Given the description of an element on the screen output the (x, y) to click on. 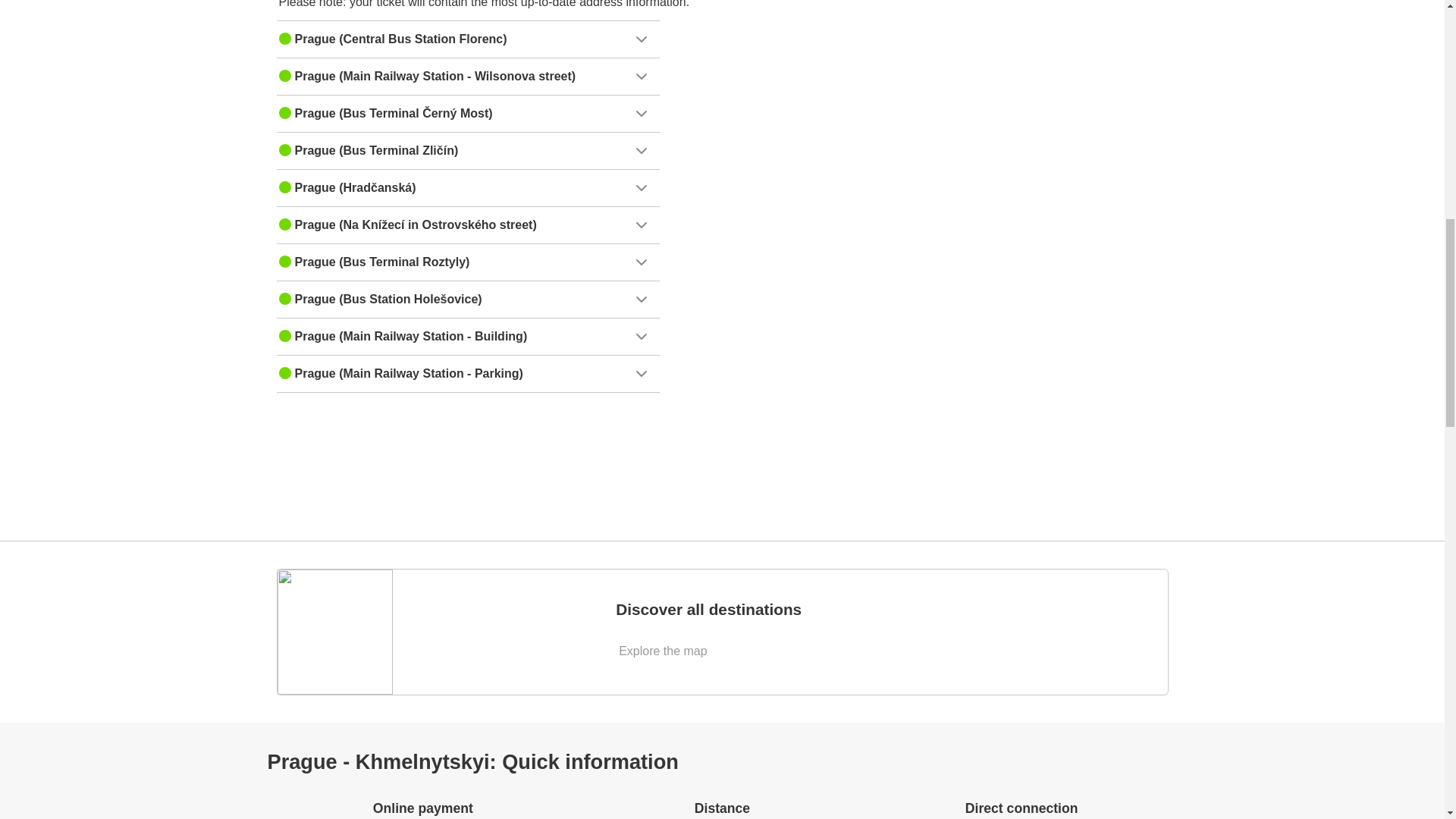
Explore the map (664, 651)
